Given the description of an element on the screen output the (x, y) to click on. 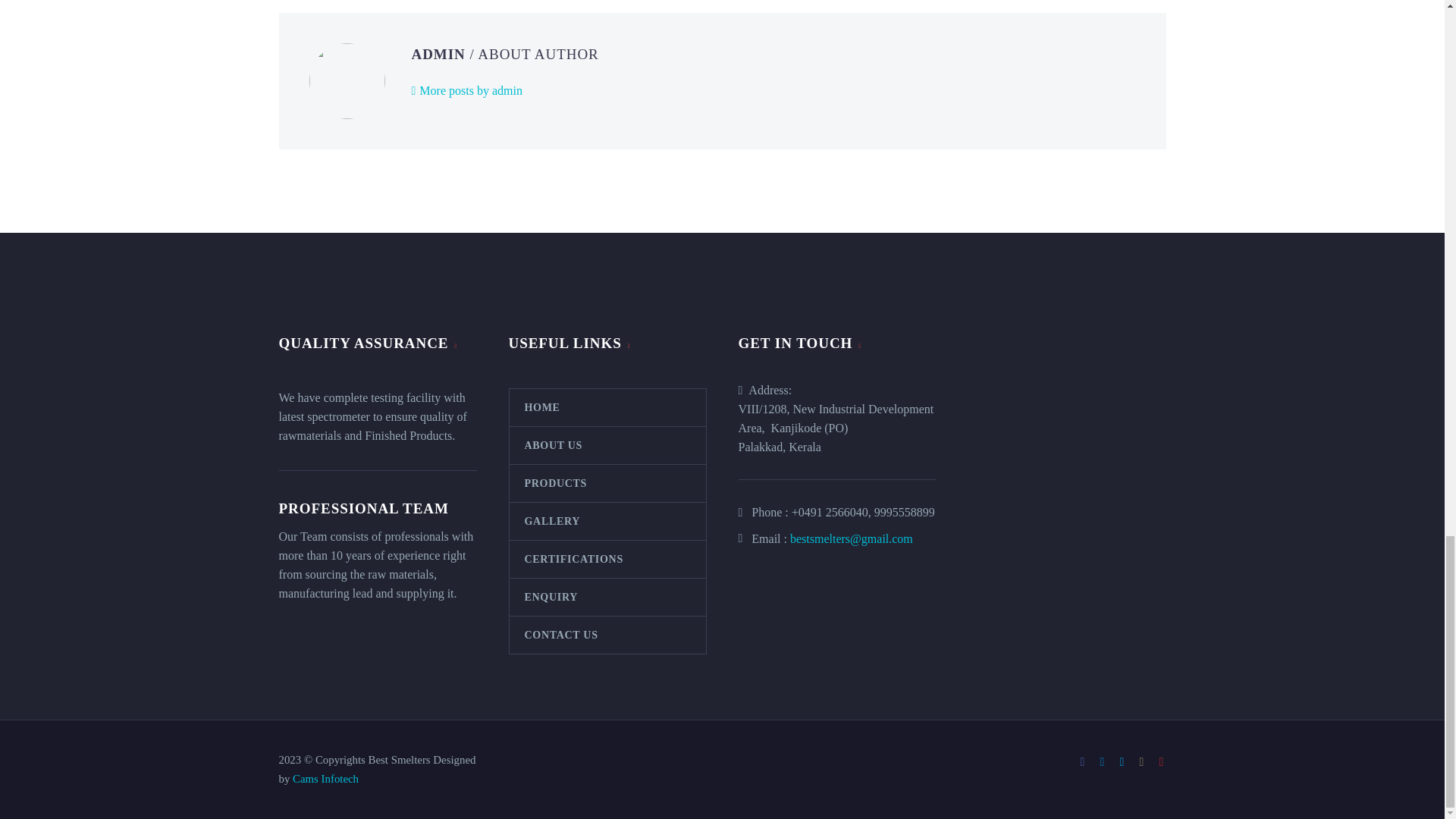
CERTIFICATIONS (607, 559)
LinkedIn (1102, 761)
More posts by admin (465, 90)
GALLERY (607, 520)
CONTACT US (607, 634)
PRODUCTS (607, 483)
Facebook (1083, 761)
HOME (607, 407)
ABOUT US (607, 445)
ENQUIRY (607, 596)
